Given the description of an element on the screen output the (x, y) to click on. 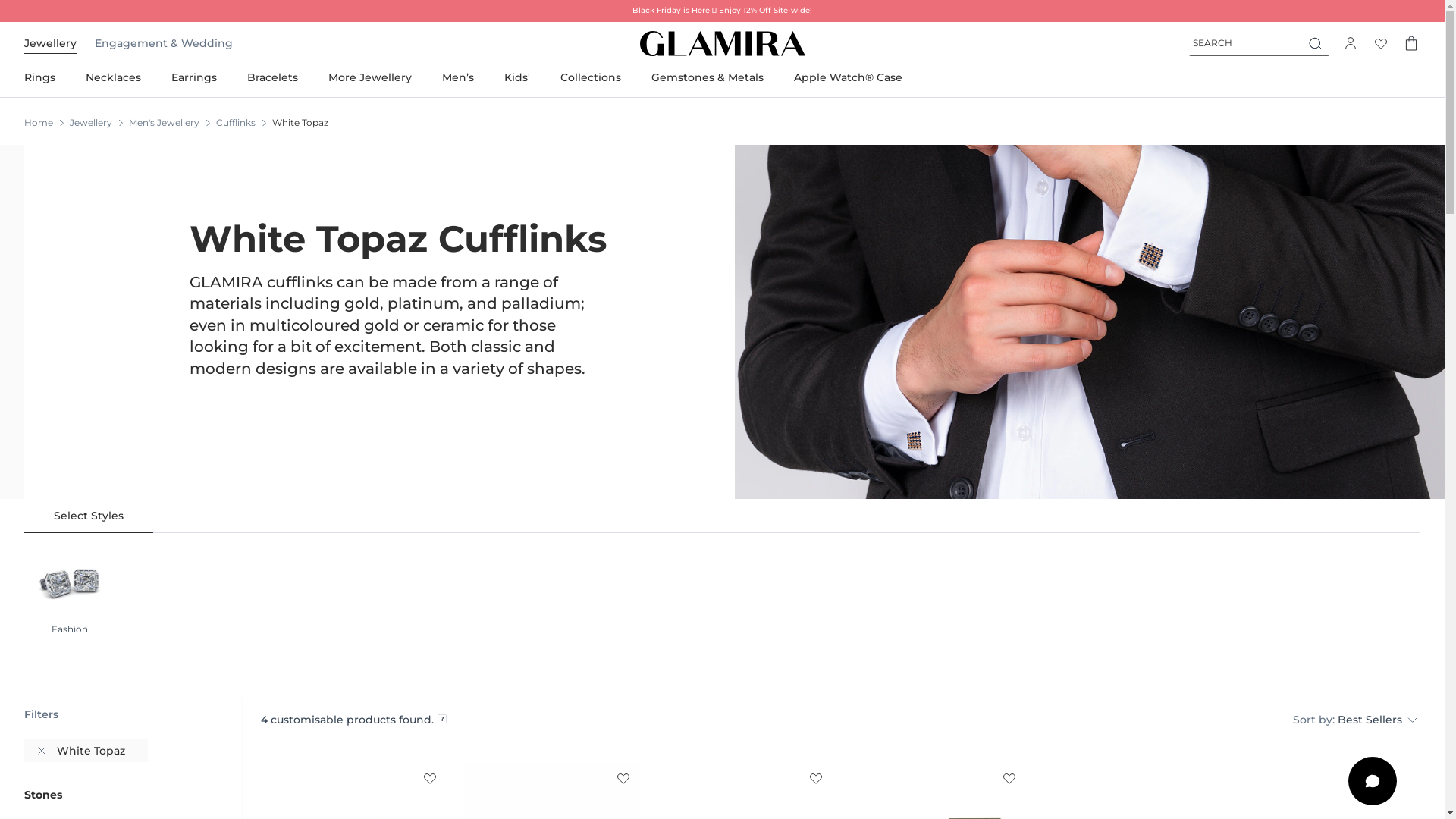
Stones Element type: text (43, 794)
Kids' Element type: text (517, 77)
Bracelets Element type: text (272, 77)
Add to Compare Element type: hover (815, 777)
Select Styles Element type: text (88, 515)
Rings Element type: text (47, 77)
Saved Items Element type: hover (1380, 43)
Add to Compare Element type: hover (623, 777)
Engagement Element type: text (130, 42)
Add to Compare Element type: hover (429, 777)
Cufflinks Element type: hover (1089, 321)
Earrings Element type: text (194, 77)
Search Element type: text (1316, 43)
Men'S Jewellery Element type: text (163, 122)
Wedding Element type: text (206, 42)
Home Element type: text (38, 122)
Glamira Element type: hover (722, 43)
Collections Element type: text (590, 77)
Shopping Bag Element type: hover (1411, 43)
Jewellery Element type: text (90, 122)
[i] Element type: text (441, 718)
Cufflinks Element type: text (235, 122)
More Jewellery Element type: text (369, 77)
Glamira Element type: hover (722, 43)
Necklaces Element type: text (113, 77)
Fashion Element type: text (69, 587)
Add to Compare Element type: hover (1009, 777)
Jewellery Element type: text (50, 42)
